Given the description of an element on the screen output the (x, y) to click on. 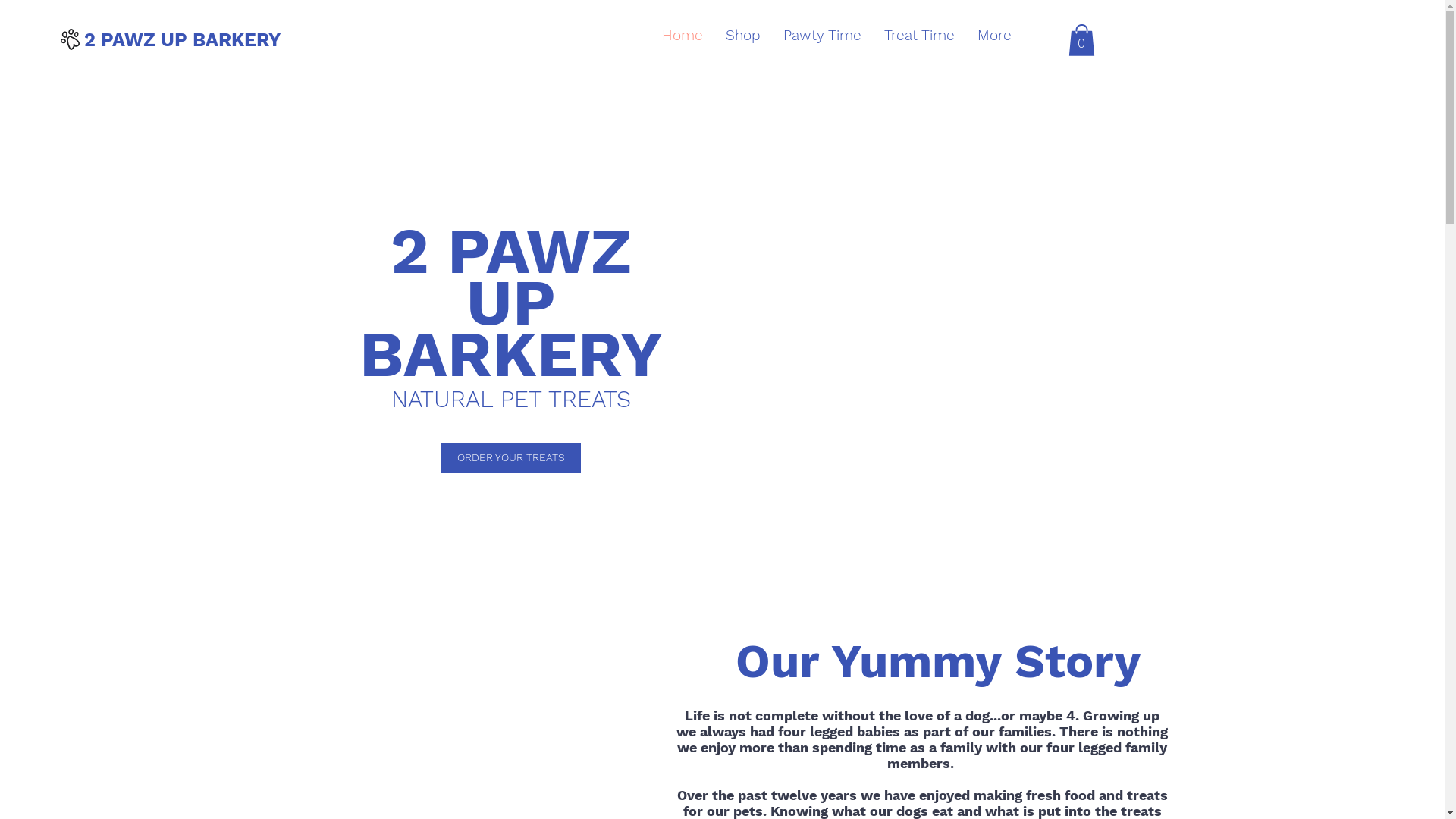
Shop Element type: text (742, 35)
2 PAWZ UP BARKERY Element type: text (182, 39)
0 Element type: text (1080, 40)
Treat Time Element type: text (918, 35)
Home Element type: text (682, 35)
ORDER YOUR TREATS Element type: text (510, 457)
Pawty Time Element type: text (821, 35)
